Given the description of an element on the screen output the (x, y) to click on. 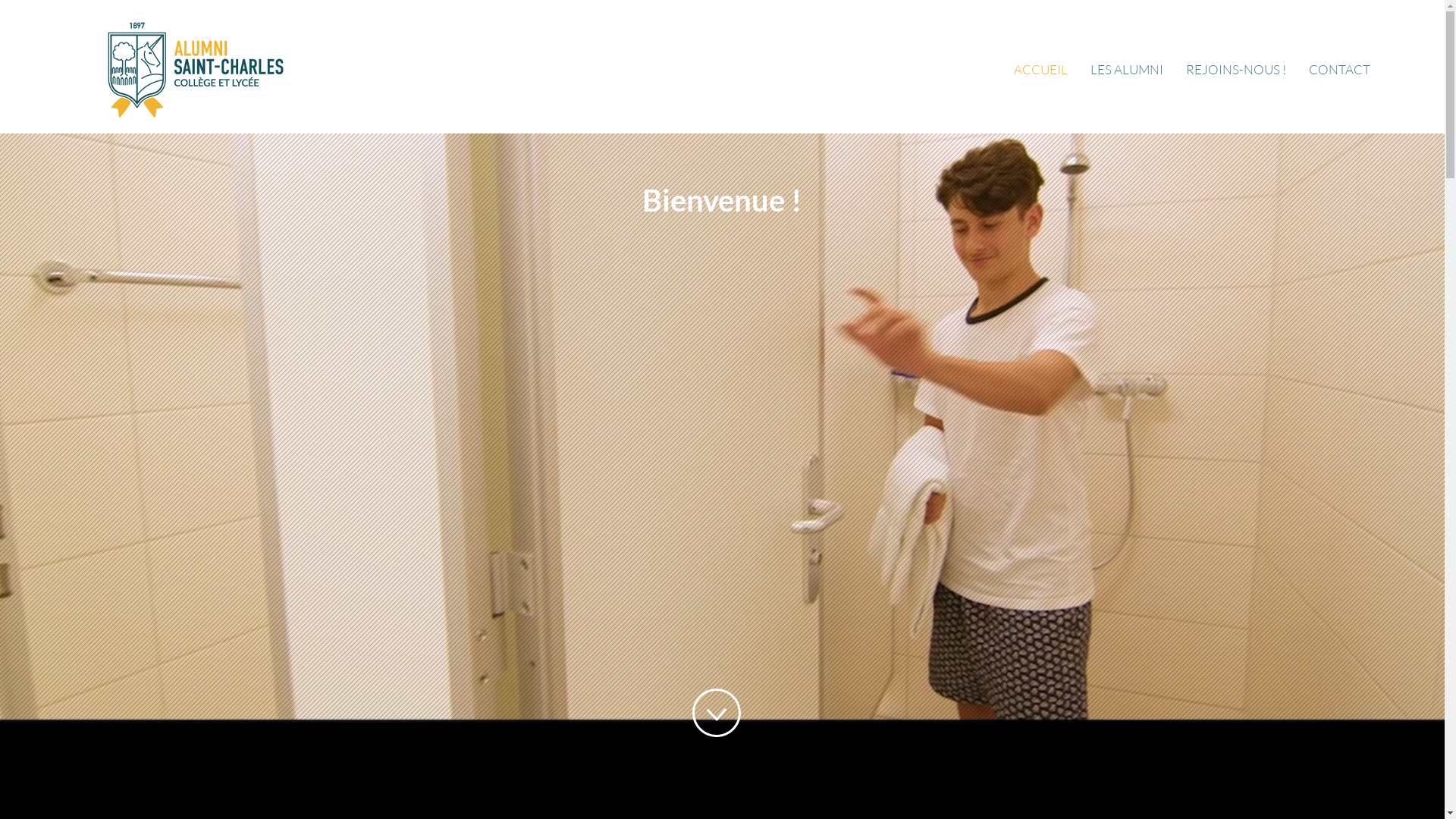
REJOINS-NOUS ! Element type: text (1235, 69)
CONTACT Element type: text (1339, 69)
ACCUEIL Element type: text (1040, 69)
LES ALUMNI Element type: text (1126, 69)
